Given the description of an element on the screen output the (x, y) to click on. 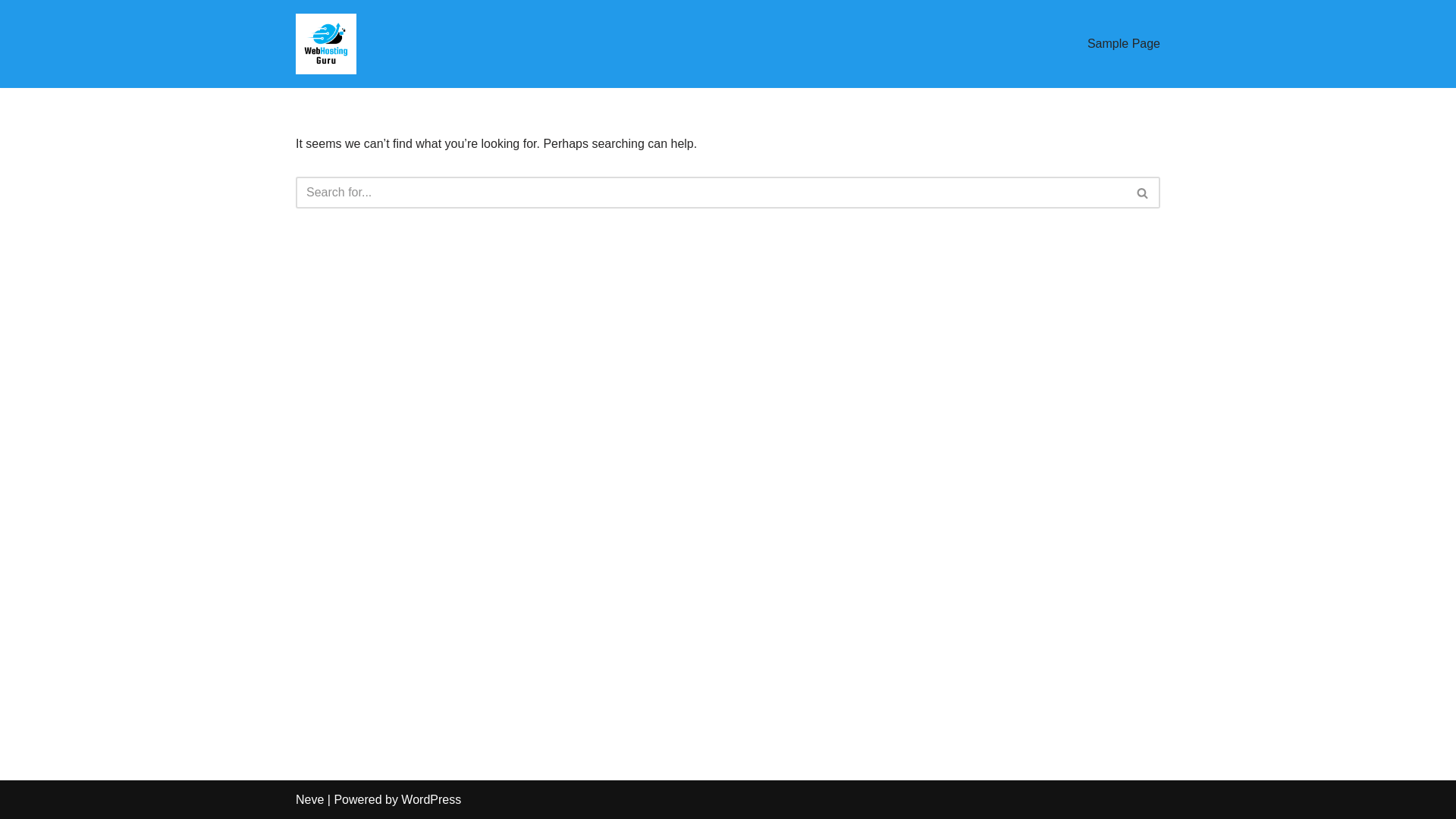
Neve Element type: text (309, 799)
Sample Page Element type: text (1123, 43)
WordPress Element type: text (431, 799)
Skip to content Element type: text (11, 31)
